Given the description of an element on the screen output the (x, y) to click on. 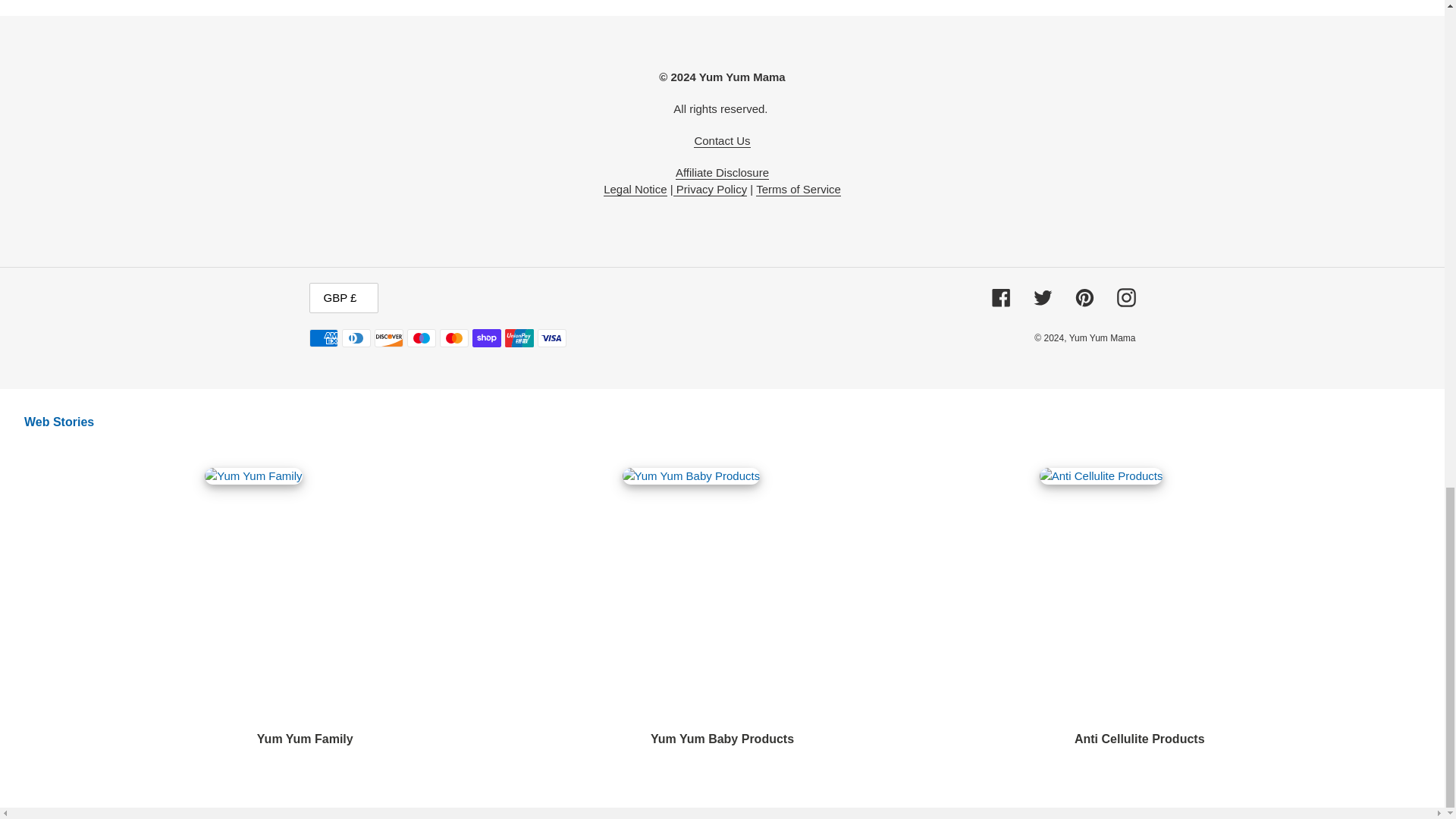
Terms of Service (798, 189)
Privacy Policy (710, 189)
Legal Notice (635, 189)
